Given the description of an element on the screen output the (x, y) to click on. 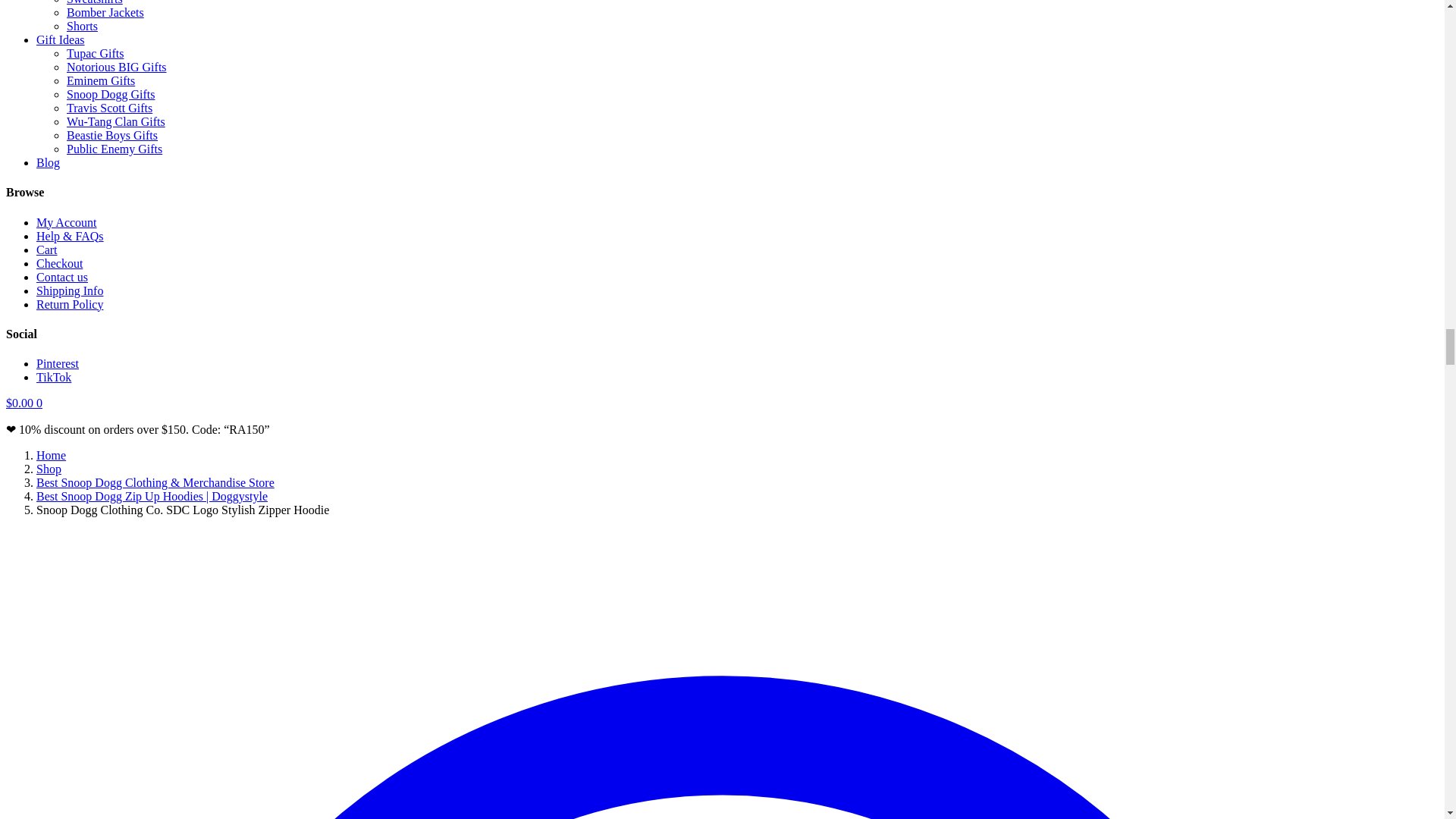
View your shopping cart (23, 402)
